Given the description of an element on the screen output the (x, y) to click on. 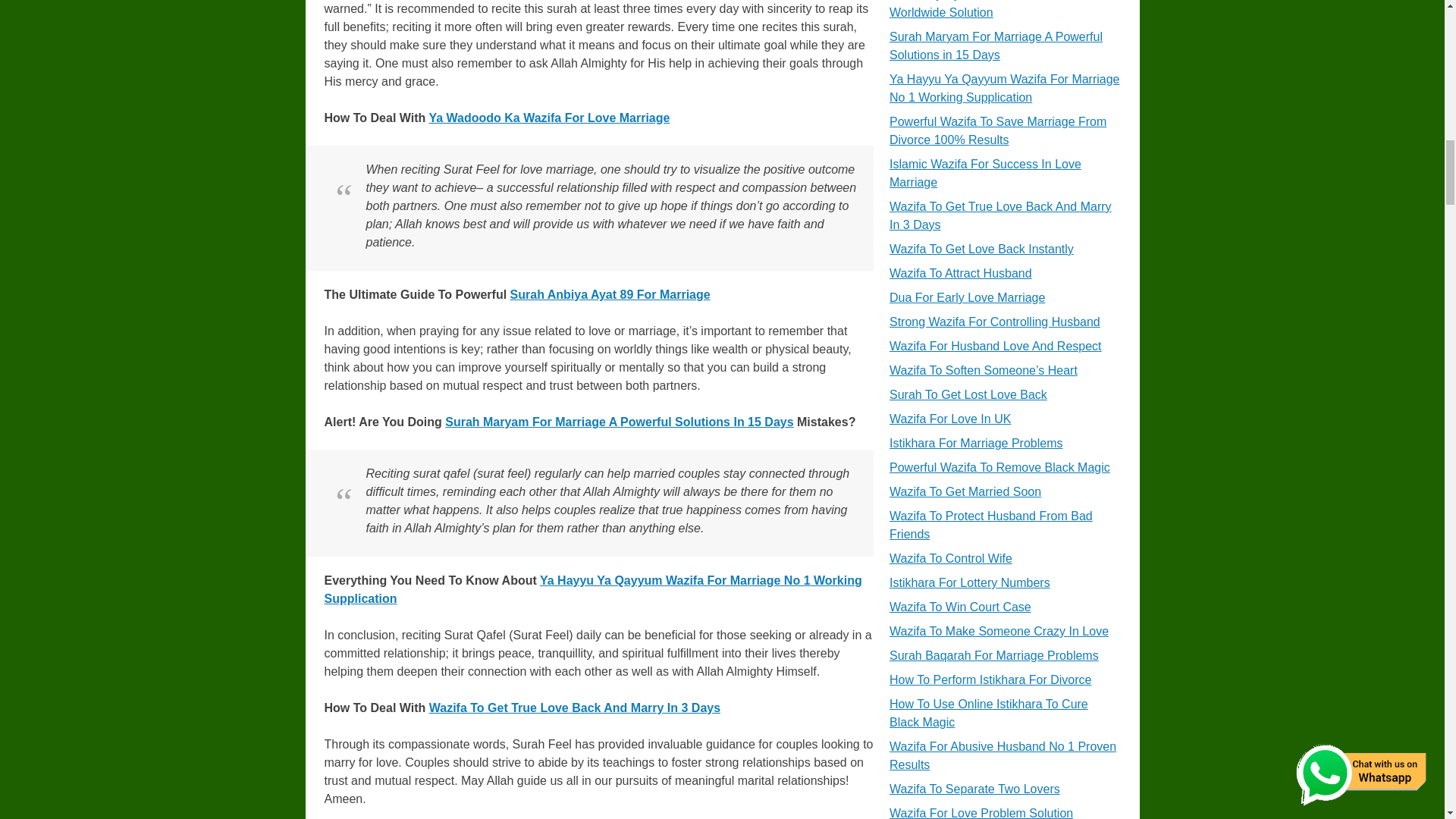
Surah Maryam For Marriage A Powerful Solutions In 15 Days (619, 421)
Wazifa To Get True Love Back And Marry In 3 Days (574, 707)
Ya Wadoodo Ka Wazifa For Love Marriage (548, 117)
Surah Anbiya Ayat 89 For Marriage (610, 294)
